Given the description of an element on the screen output the (x, y) to click on. 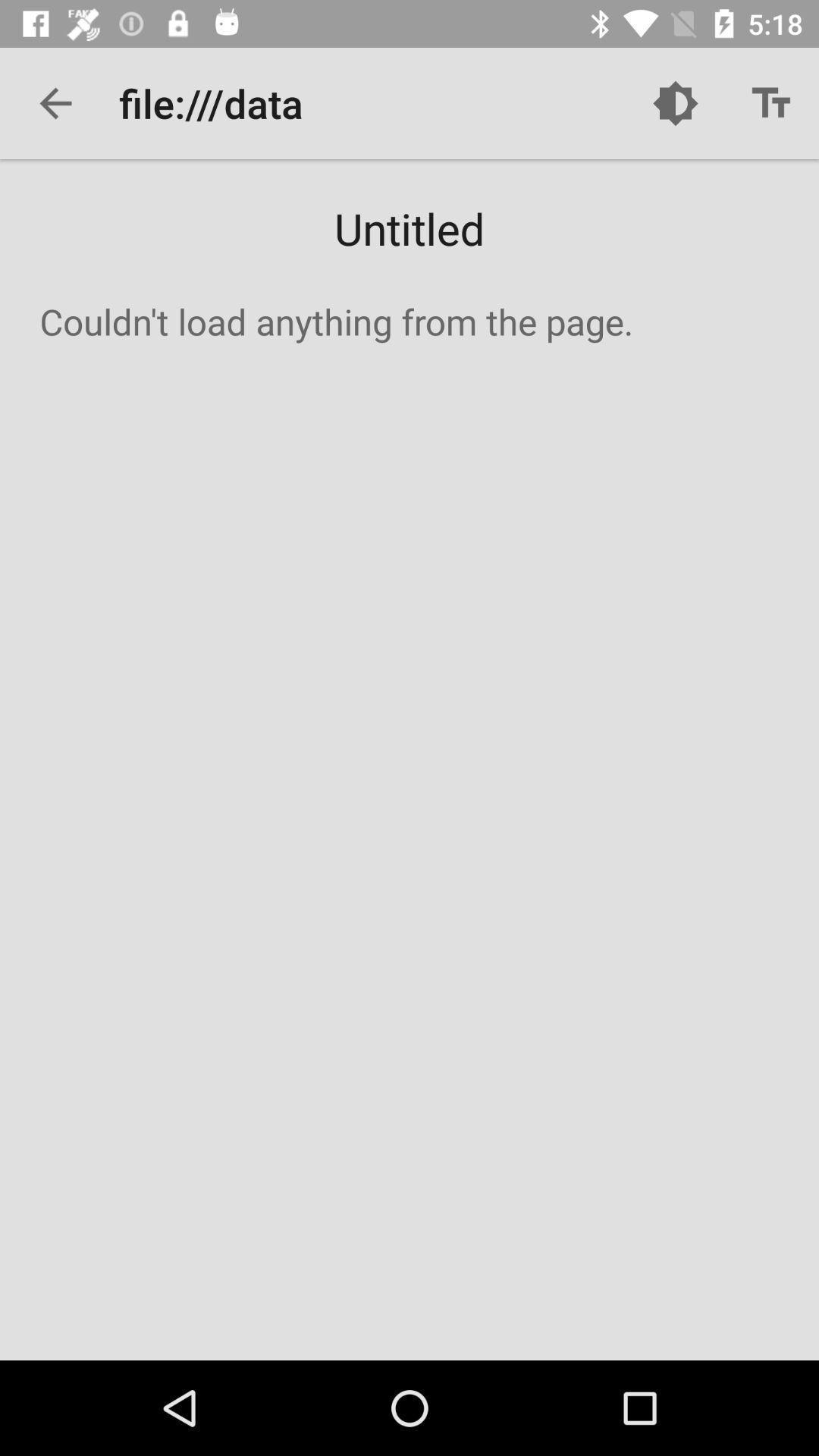
open app to the right of file:///data icon (675, 103)
